Given the description of an element on the screen output the (x, y) to click on. 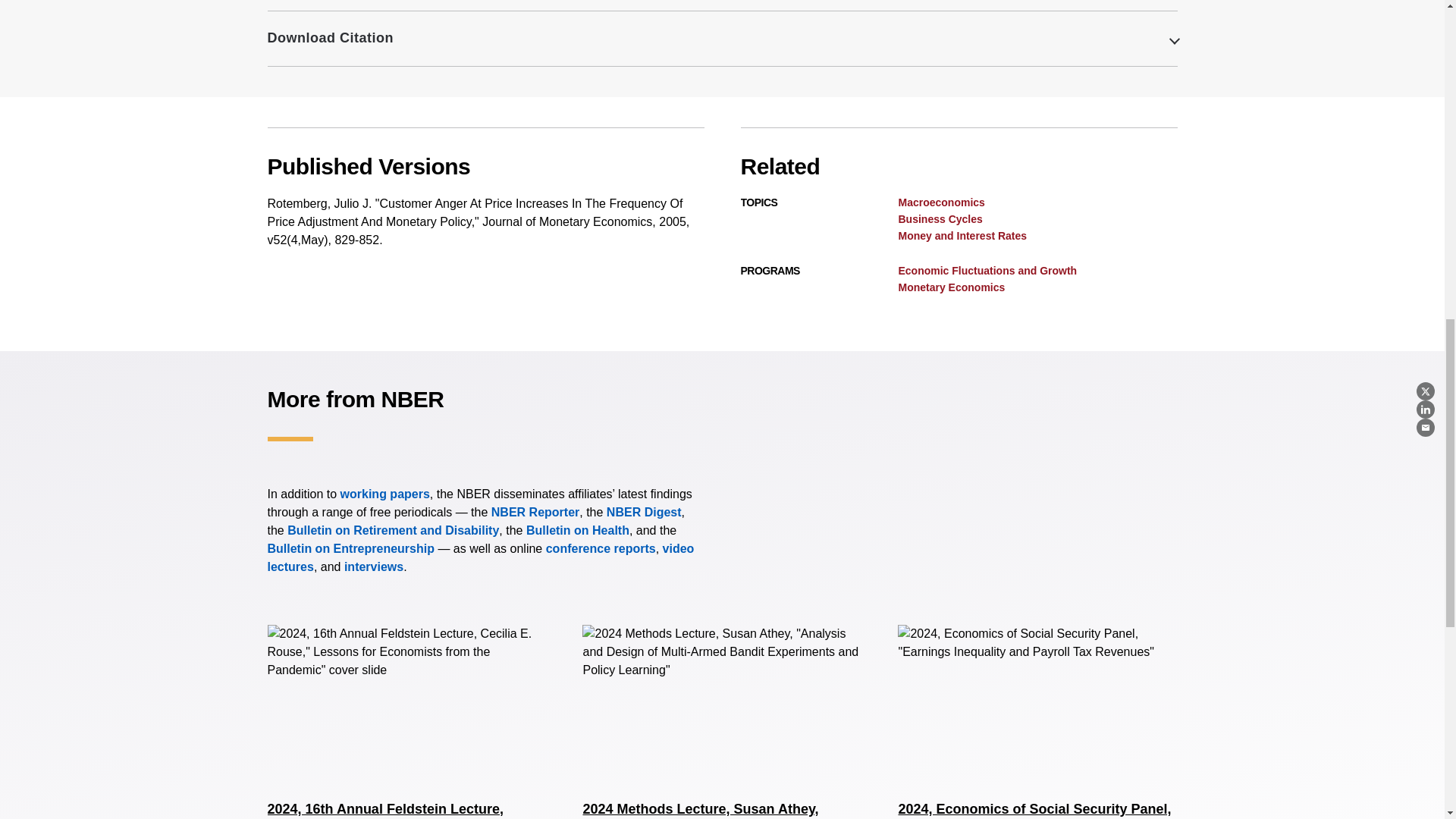
Research Spotlights (373, 566)
Working Papers (384, 493)
Lectures (480, 557)
Conferences (601, 548)
